Given the description of an element on the screen output the (x, y) to click on. 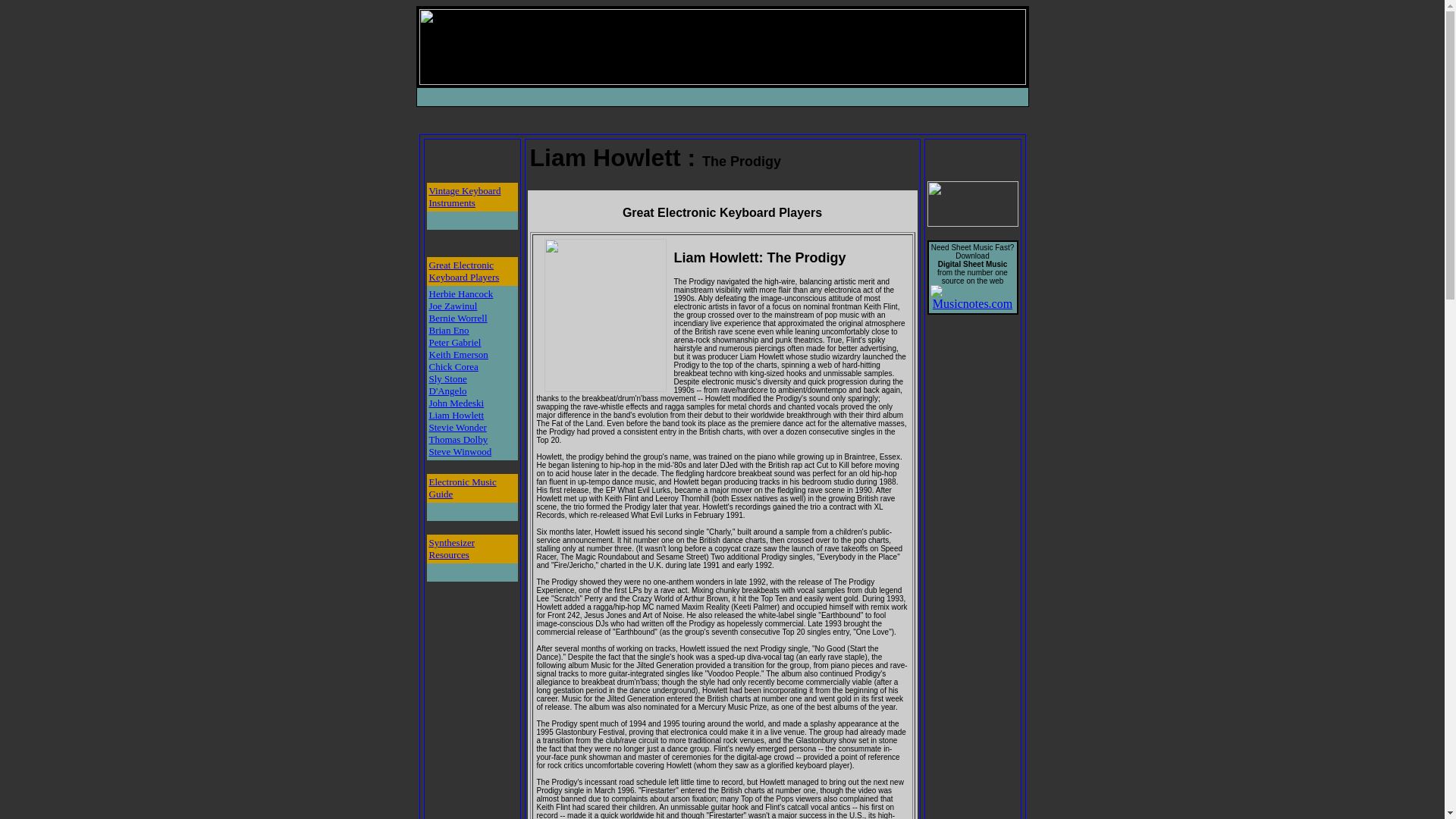
Vintage Keyboard Instruments (464, 196)
Keith Emerson (458, 354)
Electronic Music Guide (462, 487)
Brian Eno (448, 329)
Joe Zawinul (453, 306)
John Medeski (456, 402)
Bernie Worrell (458, 317)
Herbie Hancock (461, 293)
Great Electronic Keyboard Players (464, 270)
Steve Winwood (460, 451)
Sly Stone (448, 378)
Thomas Dolby (458, 439)
Liam Howlett (456, 414)
Stevie Wonder (457, 427)
D'Angelo (448, 390)
